Given the description of an element on the screen output the (x, y) to click on. 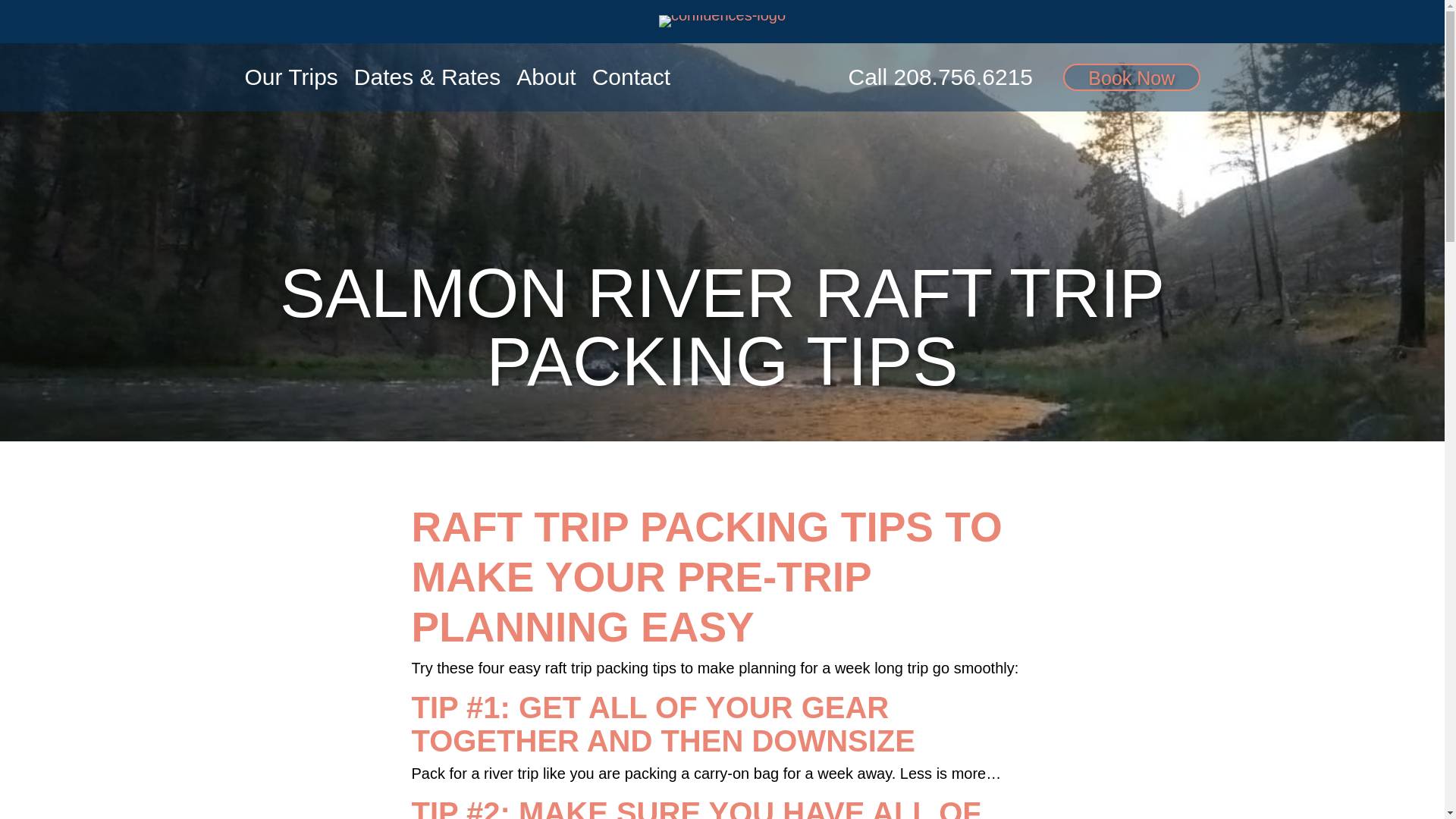
Our Trips (290, 84)
confluences-logo (722, 21)
Contact (631, 84)
Call 208.756.6215 (940, 76)
About (545, 84)
